Given the description of an element on the screen output the (x, y) to click on. 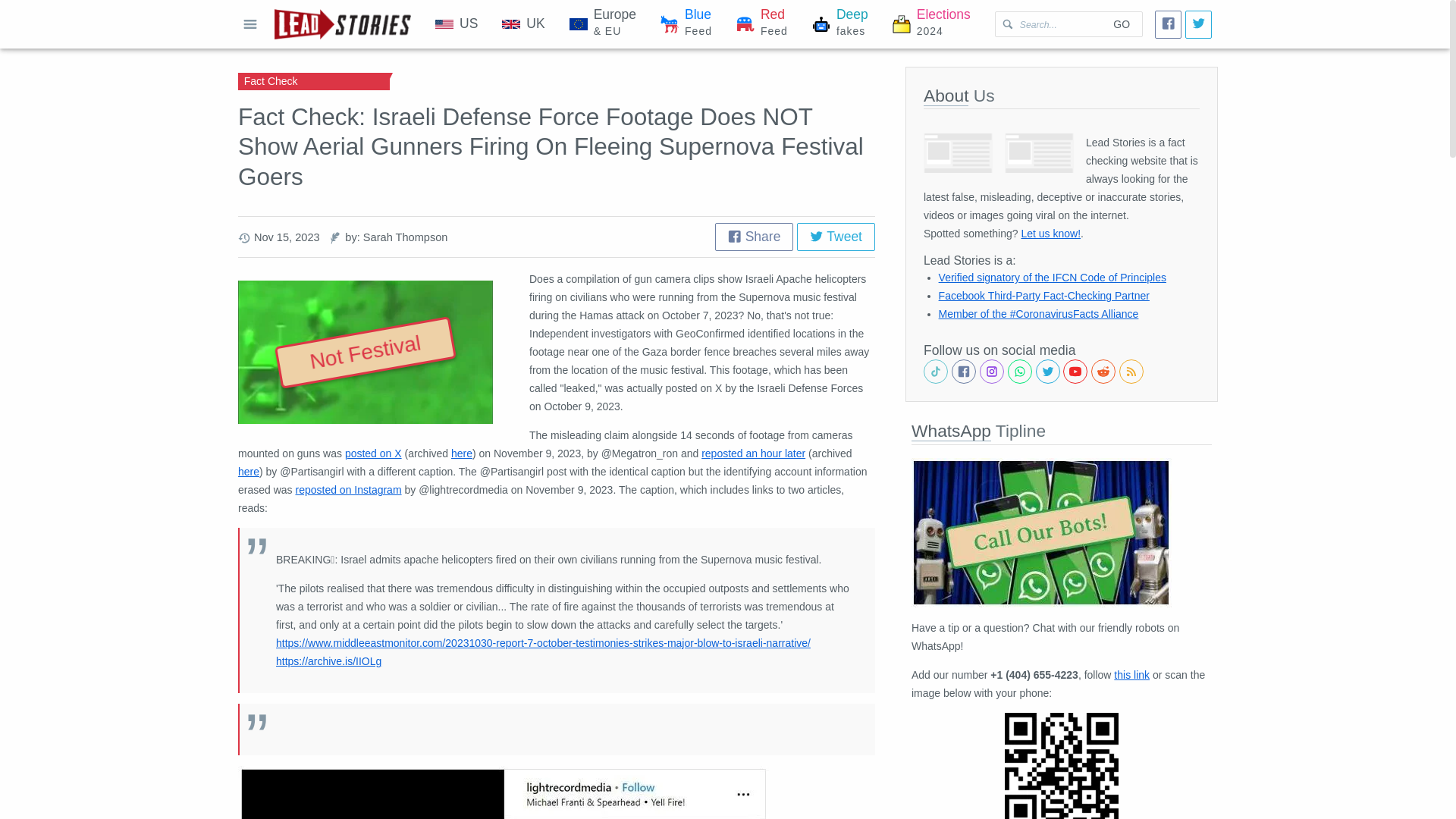
GO (1120, 24)
US (456, 24)
Tweet (835, 236)
OPEN FULL MENU (250, 24)
reposted an hour later (931, 24)
Share (753, 453)
here (685, 24)
